Given the description of an element on the screen output the (x, y) to click on. 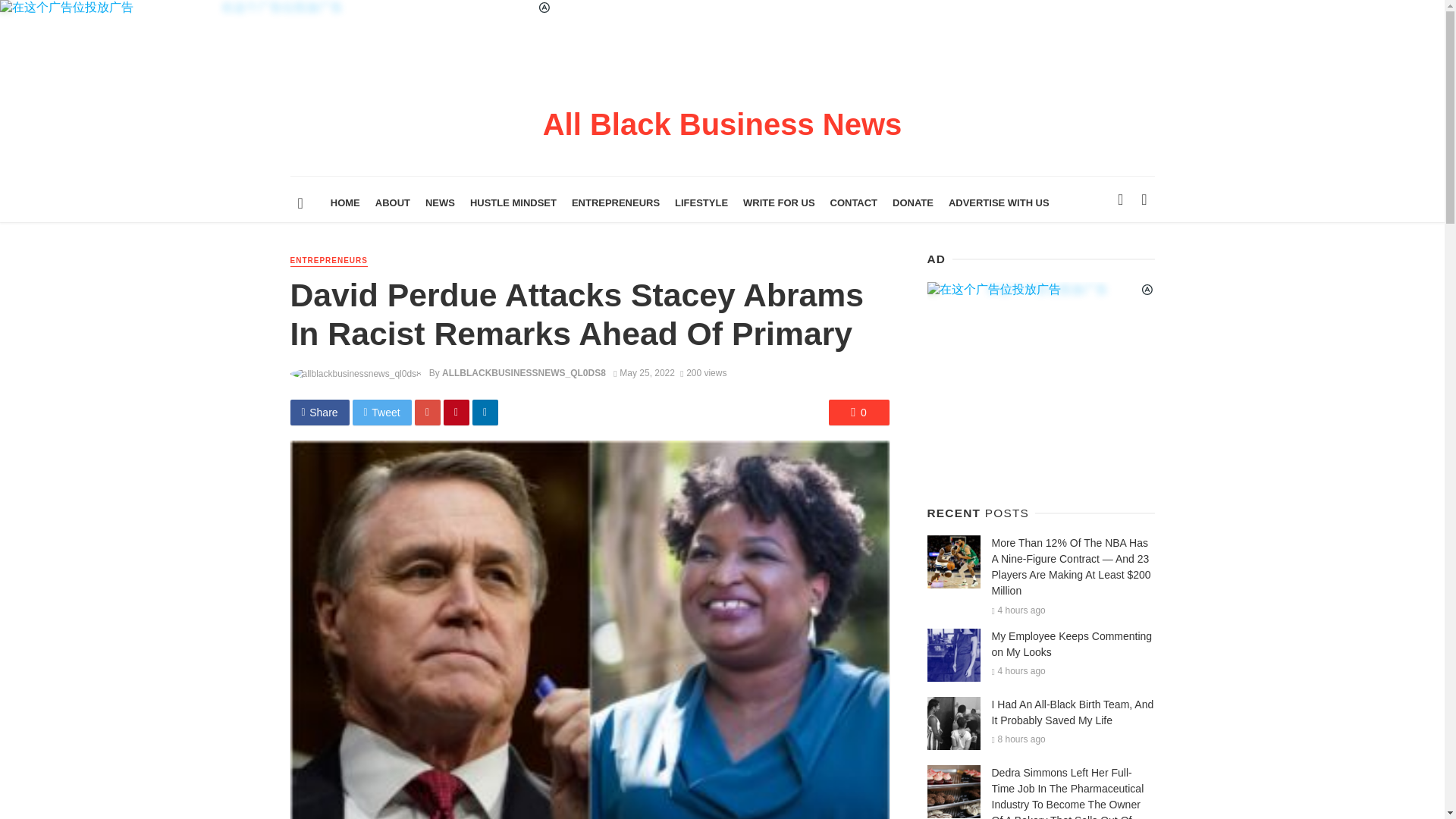
LIFESTYLE (700, 203)
May 25, 2022 at 11:24 am (643, 372)
WRITE FOR US (778, 203)
HOME (345, 203)
DONATE (912, 203)
ADVERTISE WITH US (998, 203)
NEWS (440, 203)
0 (858, 412)
CONTACT (853, 203)
ENTREPRENEURS (327, 260)
